Given the description of an element on the screen output the (x, y) to click on. 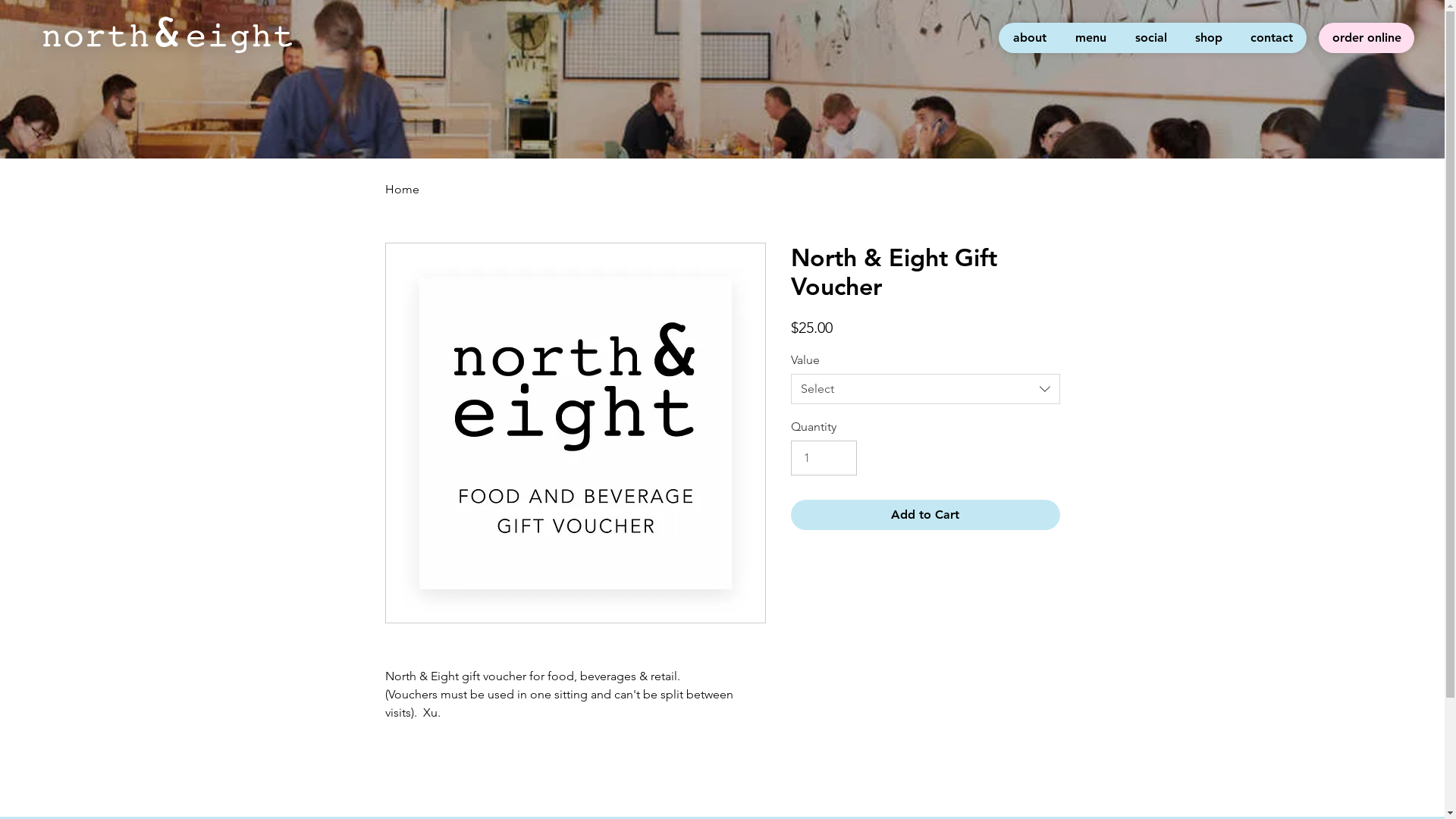
social Element type: text (1150, 37)
Home Element type: text (402, 189)
about Element type: text (1029, 37)
shop Element type: text (1208, 37)
order online Element type: text (1366, 37)
contact Element type: text (1271, 37)
Select Element type: text (924, 388)
Add to Cart Element type: text (924, 514)
menu Element type: text (1090, 37)
